Given the description of an element on the screen output the (x, y) to click on. 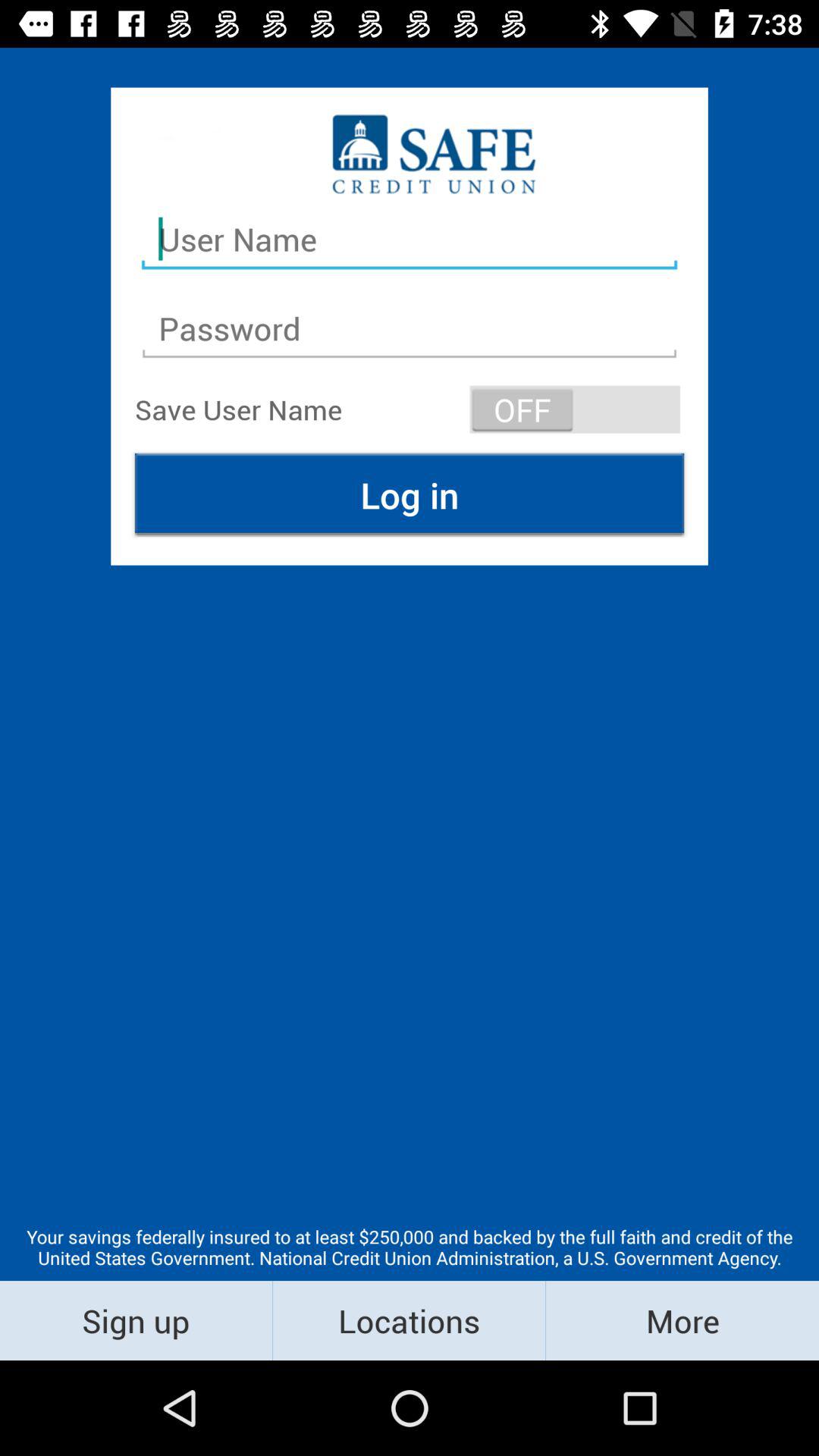
launch the icon next to save user name icon (574, 409)
